Given the description of an element on the screen output the (x, y) to click on. 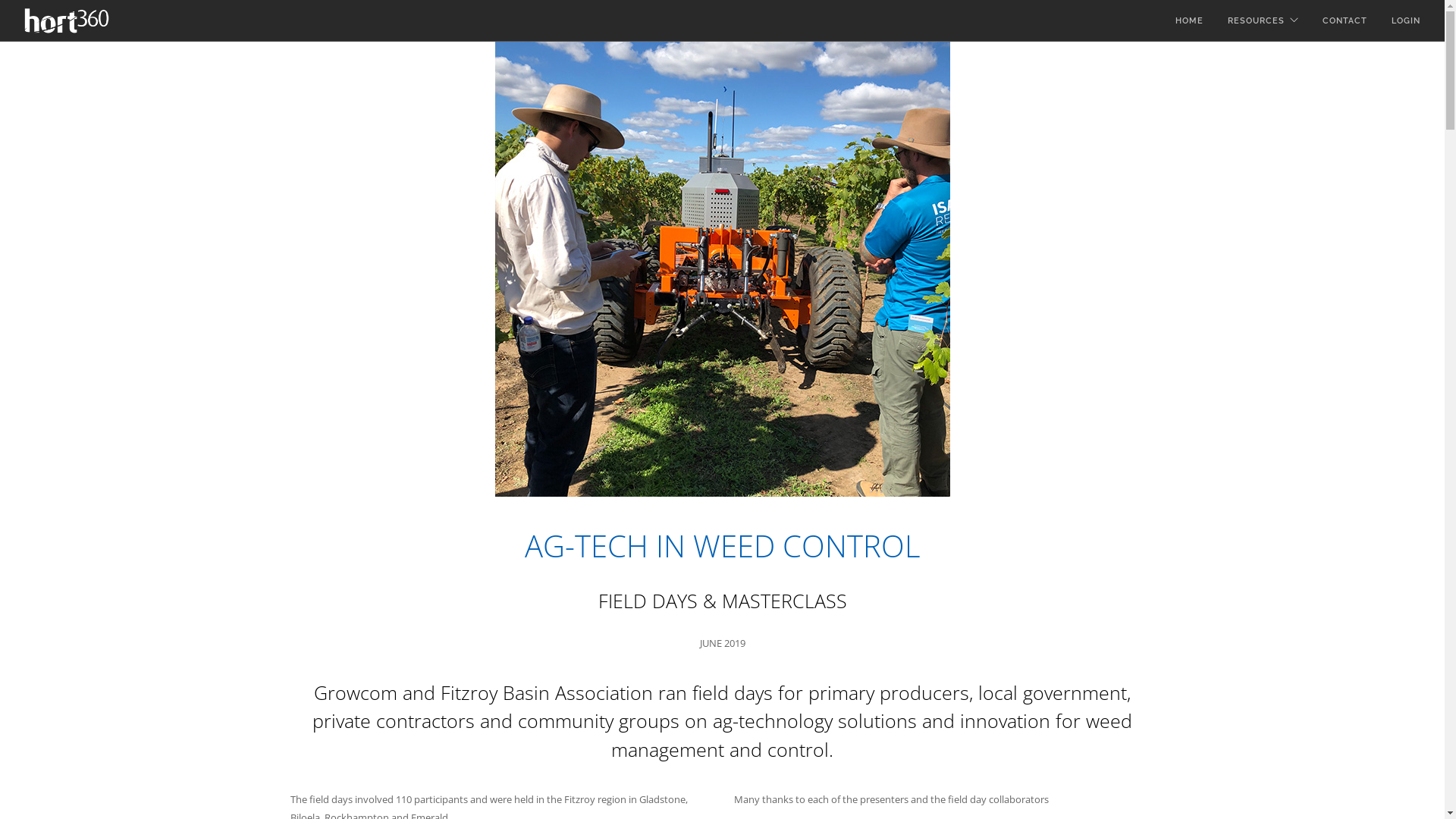
HOME Element type: text (1189, 21)
LOGIN Element type: text (1405, 21)
RESOURCES Element type: text (1255, 21)
CONTACT Element type: text (1344, 21)
